Given the description of an element on the screen output the (x, y) to click on. 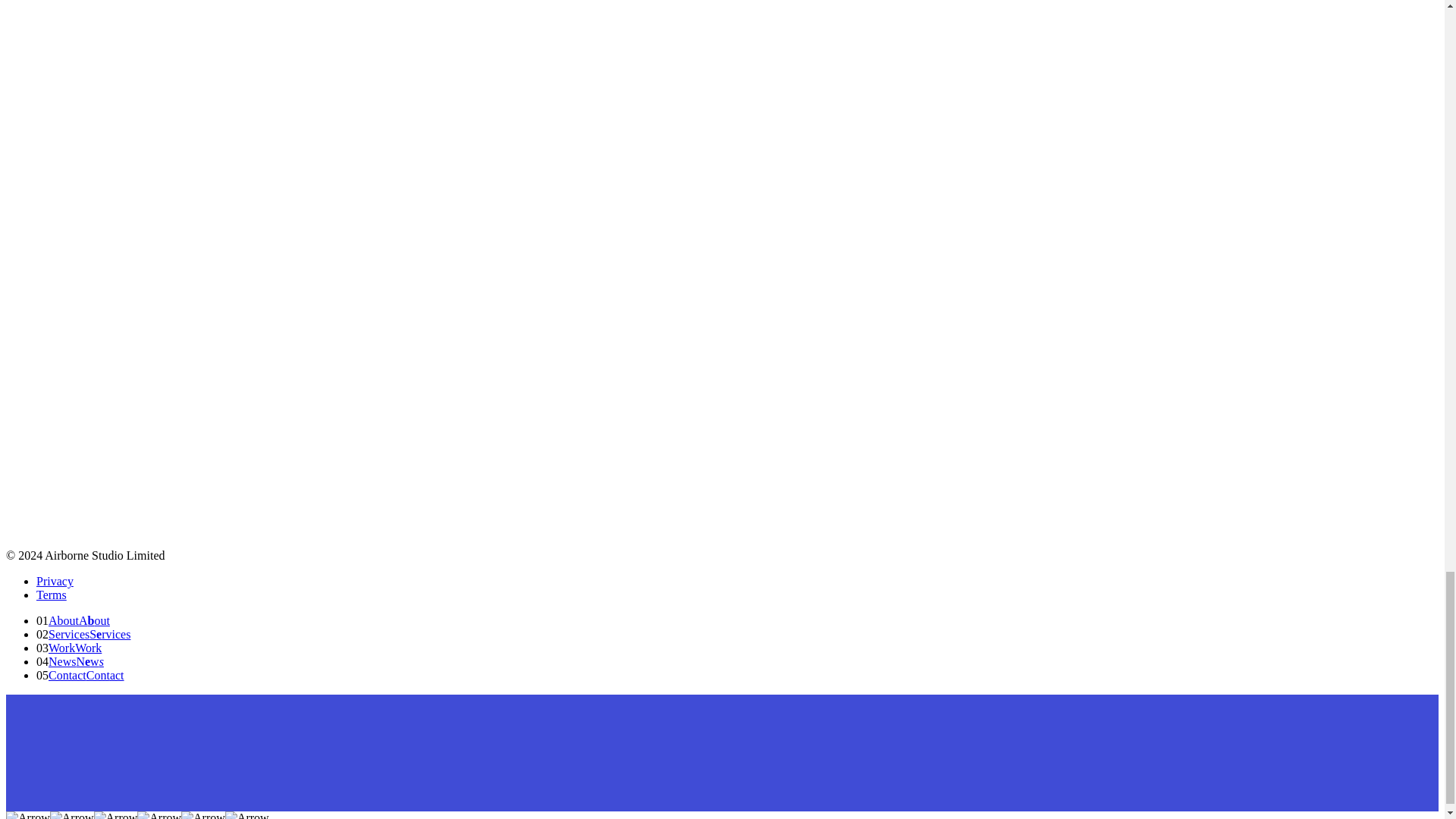
AboutAbout (79, 620)
Terms (51, 594)
NewsNews (75, 661)
ServicesServices (89, 634)
ContactContact (85, 675)
WorkWork (74, 647)
Privacy (55, 581)
